Given the description of an element on the screen output the (x, y) to click on. 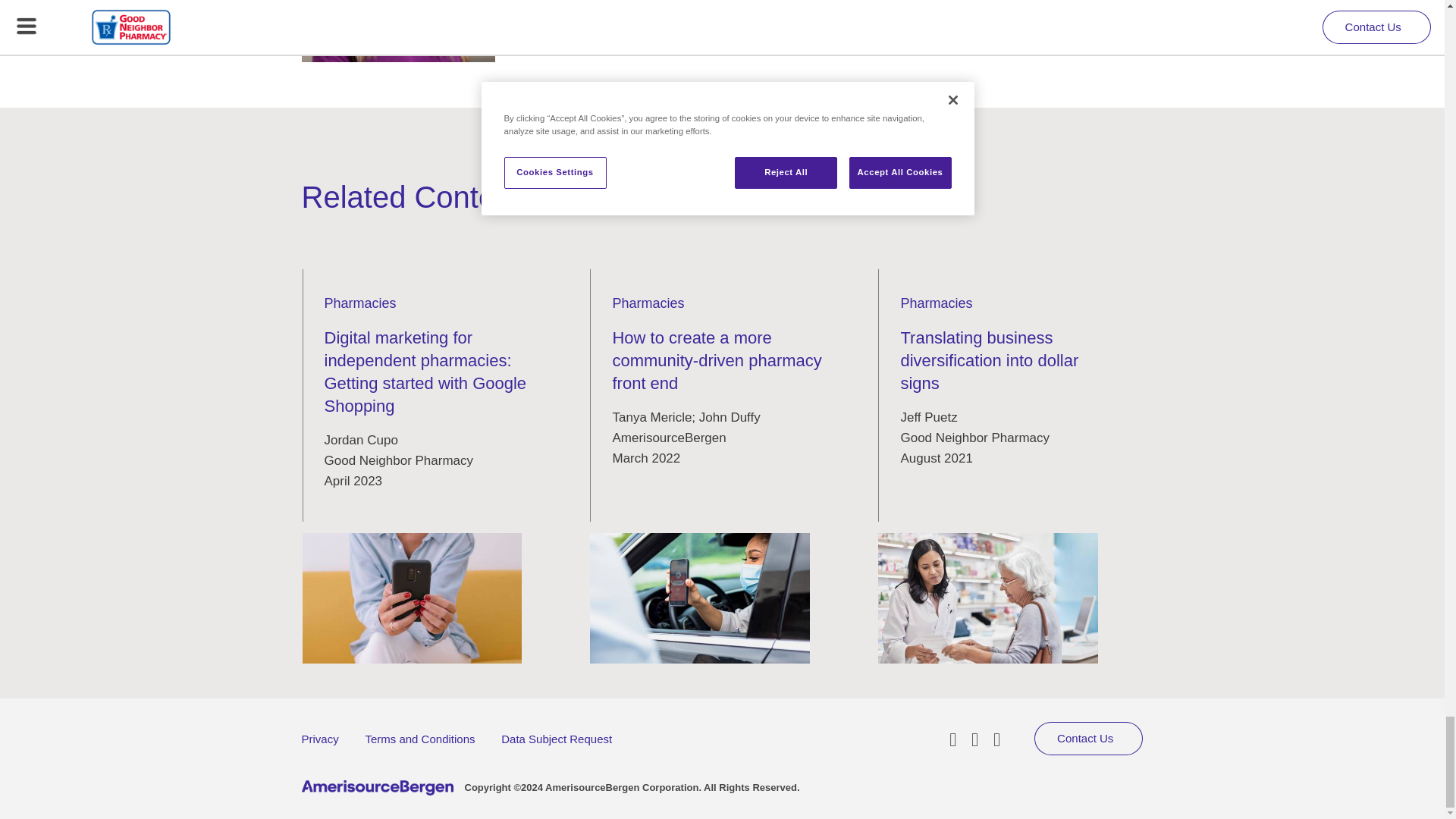
Data Subject Request (555, 738)
